Given the description of an element on the screen output the (x, y) to click on. 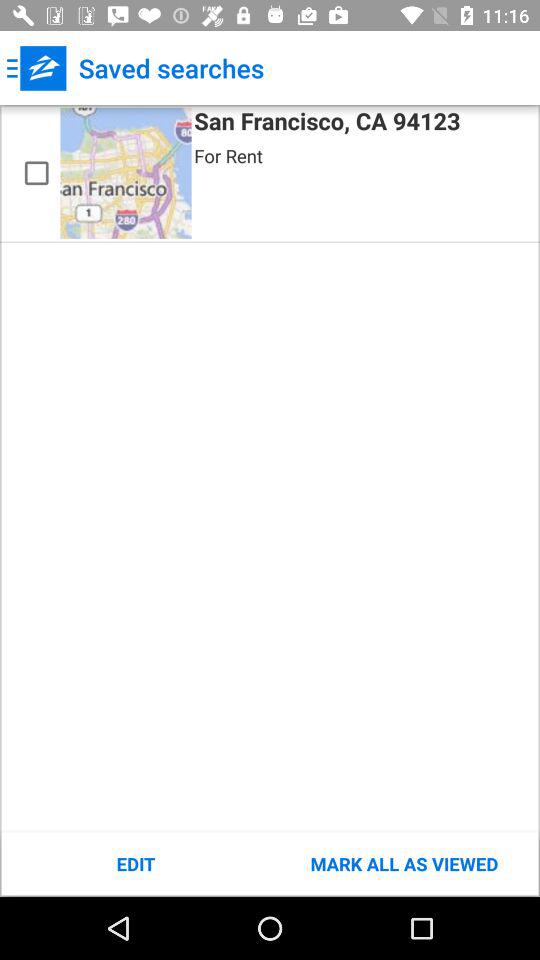
choose the icon below the san francisco ca (228, 155)
